Given the description of an element on the screen output the (x, y) to click on. 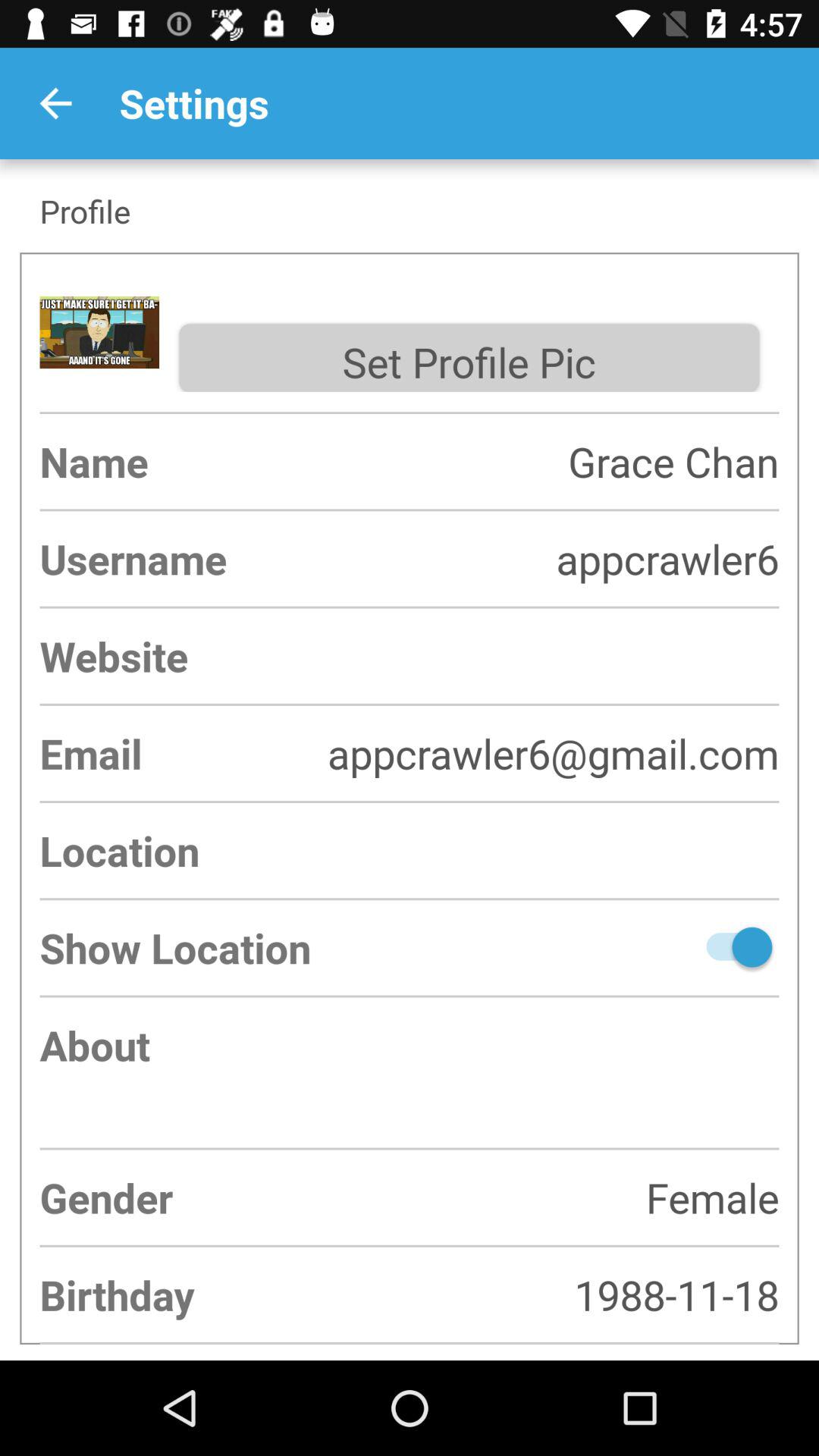
press the icon below profile icon (469, 357)
